Given the description of an element on the screen output the (x, y) to click on. 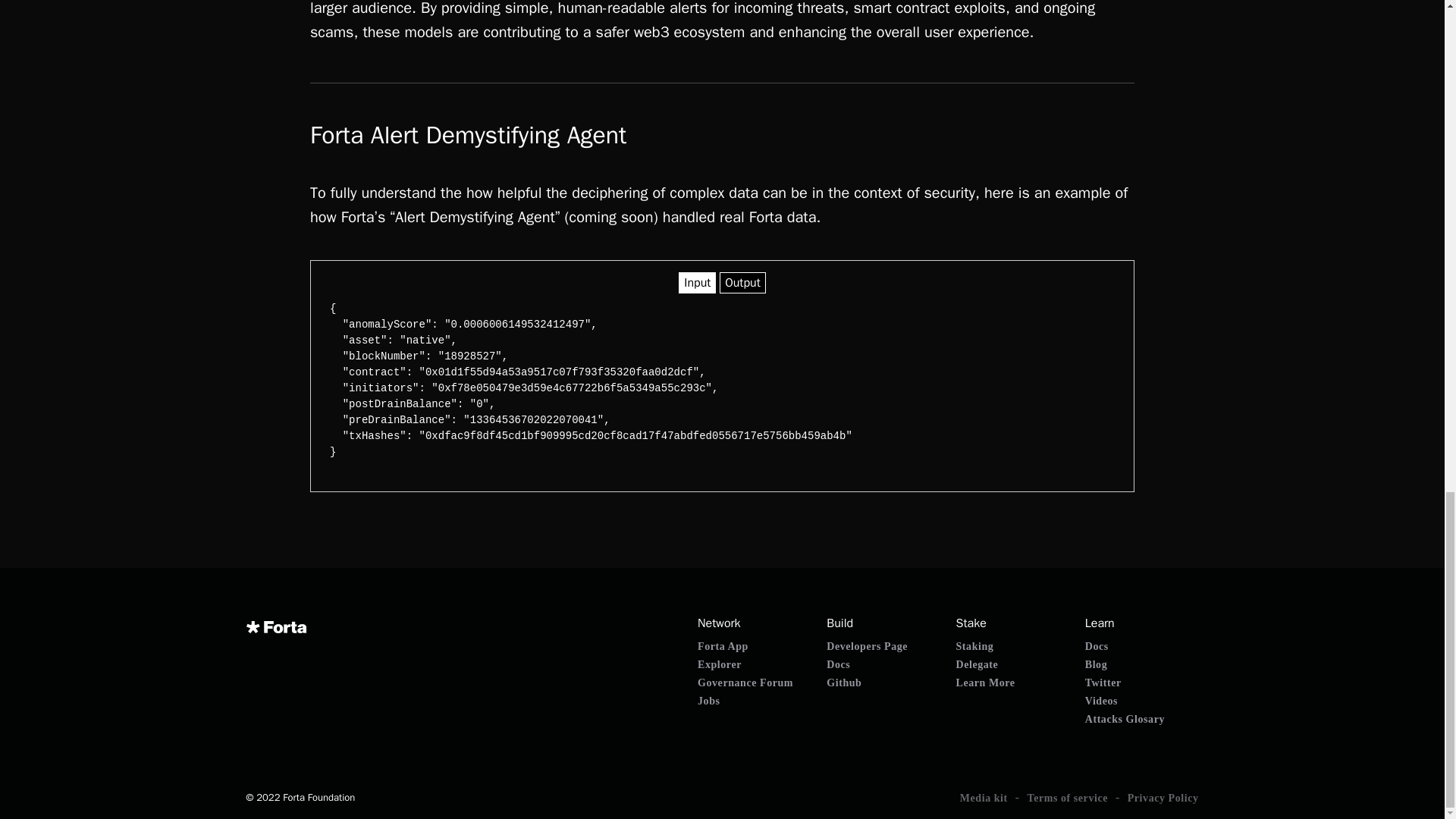
Github (844, 682)
Staking (975, 645)
Twitter (1102, 682)
Forta App (722, 645)
Explorer (719, 664)
Learn More (985, 682)
Jobs (708, 700)
Attacks Glosary (1124, 718)
Governance Forum (745, 682)
Output (742, 282)
